Given the description of an element on the screen output the (x, y) to click on. 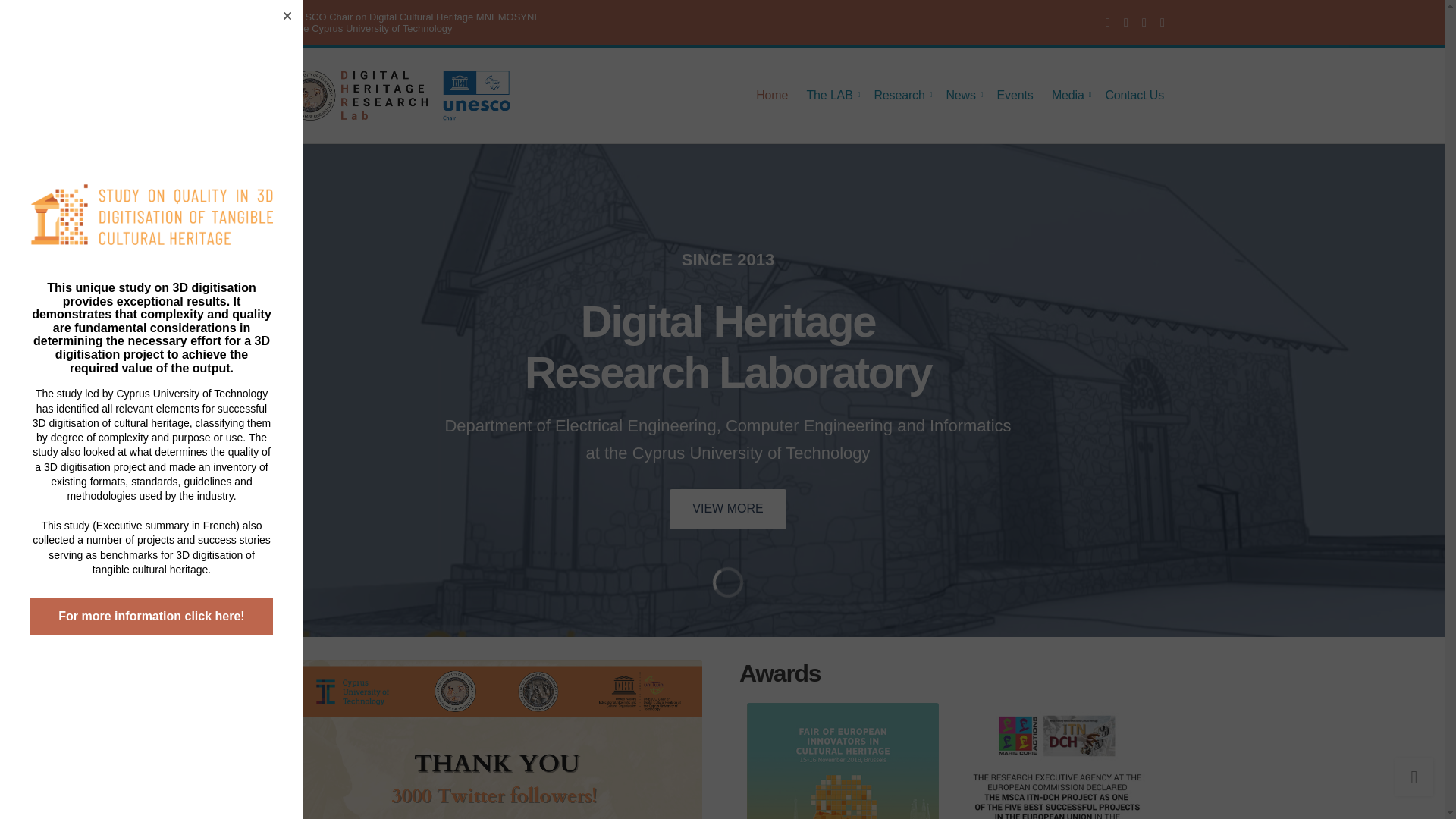
Accessibility Tools (19, 428)
Instagram (1162, 22)
The LAB (831, 95)
Twitter (19, 428)
Facebook (1125, 22)
Home (1107, 22)
Research (771, 95)
Accessibility Tools (900, 95)
YouTube (19, 428)
